Given the description of an element on the screen output the (x, y) to click on. 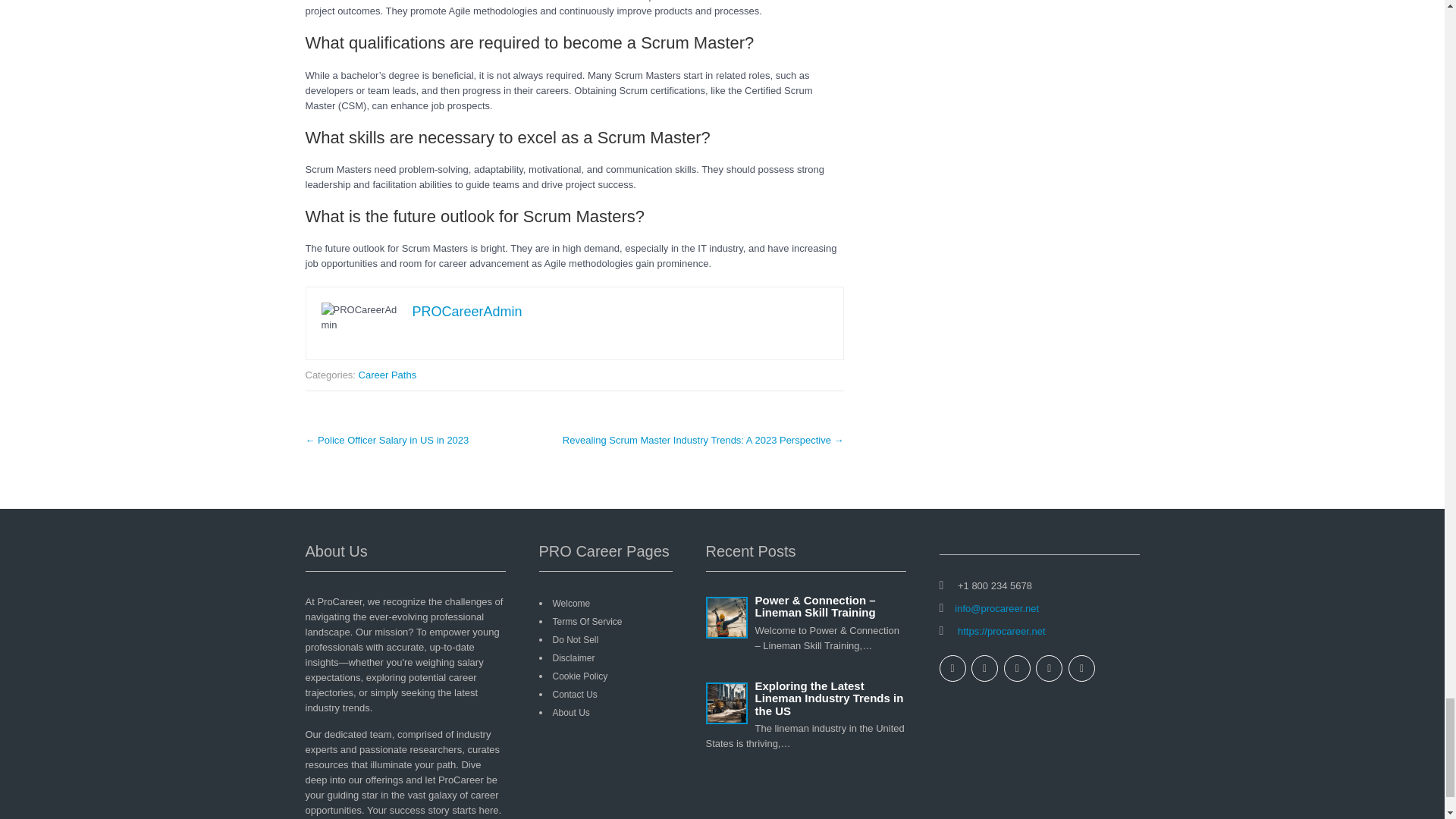
PROCareerAdmin (467, 311)
Career Paths (387, 374)
Disclaimer (572, 657)
Terms Of Service (586, 621)
Do Not Sell (574, 639)
Welcome (570, 603)
